Given the description of an element on the screen output the (x, y) to click on. 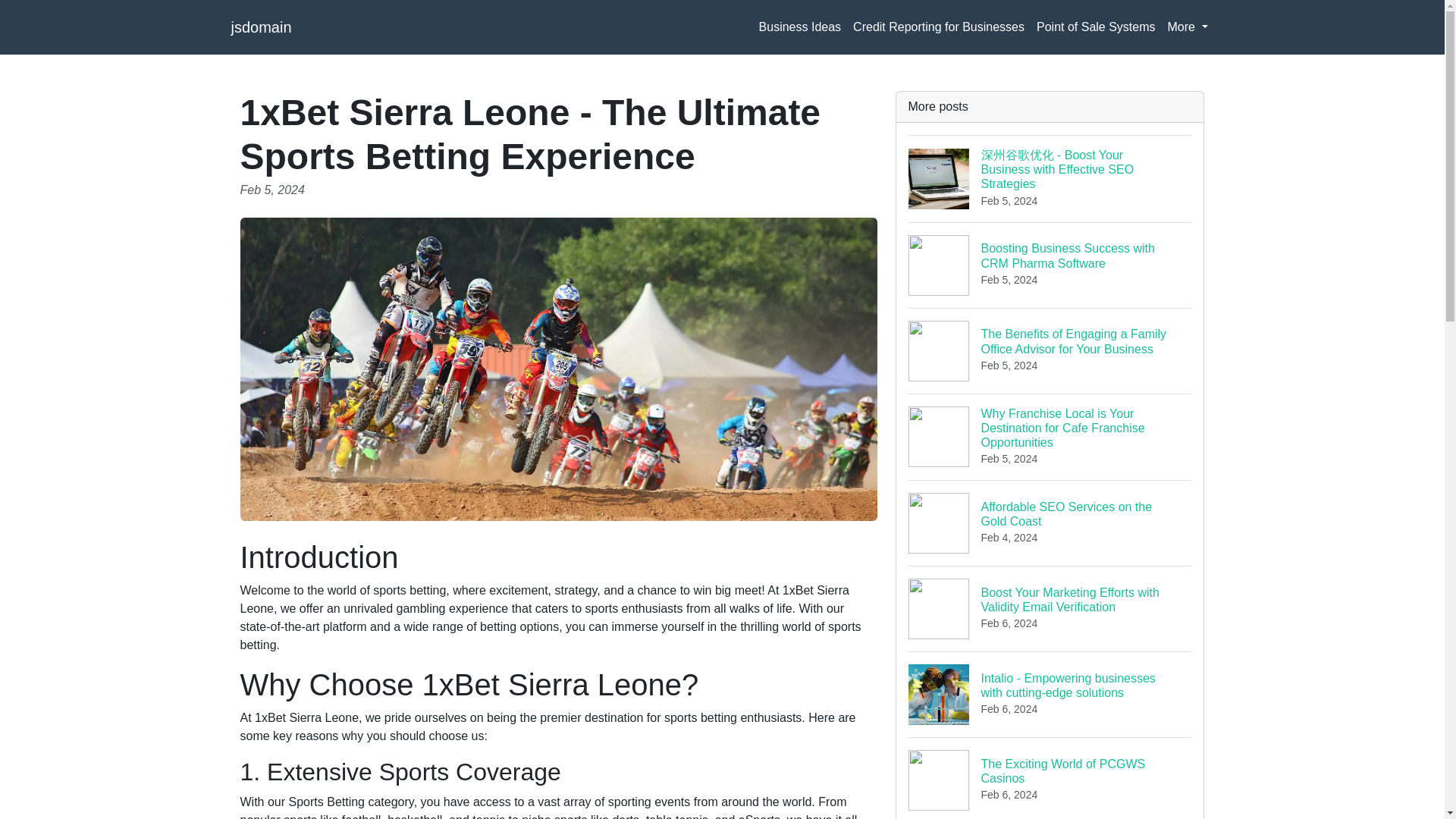
Business Ideas (1050, 778)
jsdomain (799, 27)
Point of Sale Systems (260, 27)
More (1050, 522)
Credit Reporting for Businesses (1095, 27)
